Given the description of an element on the screen output the (x, y) to click on. 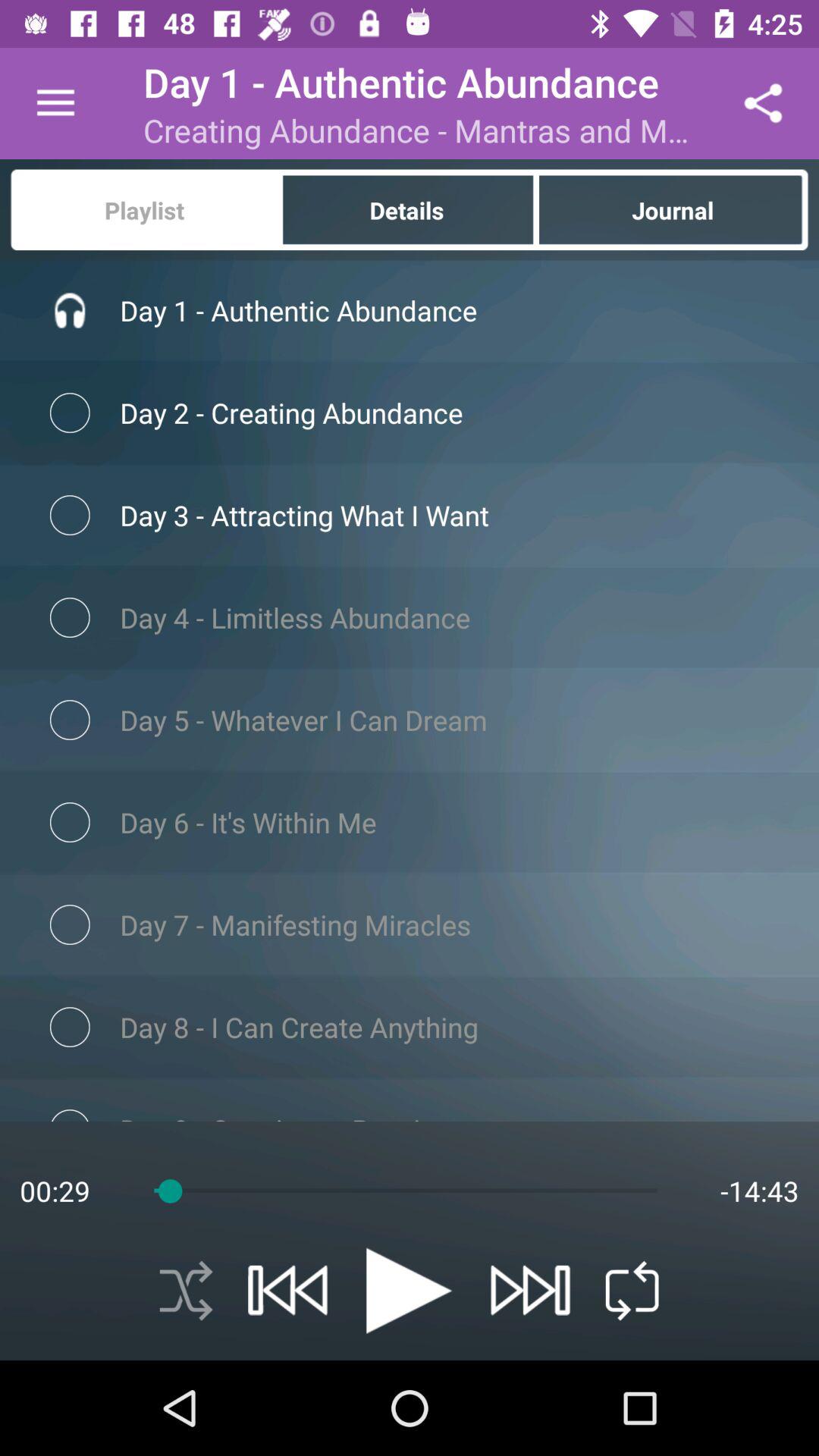
launch icon above the day 1 authentic (673, 209)
